Given the description of an element on the screen output the (x, y) to click on. 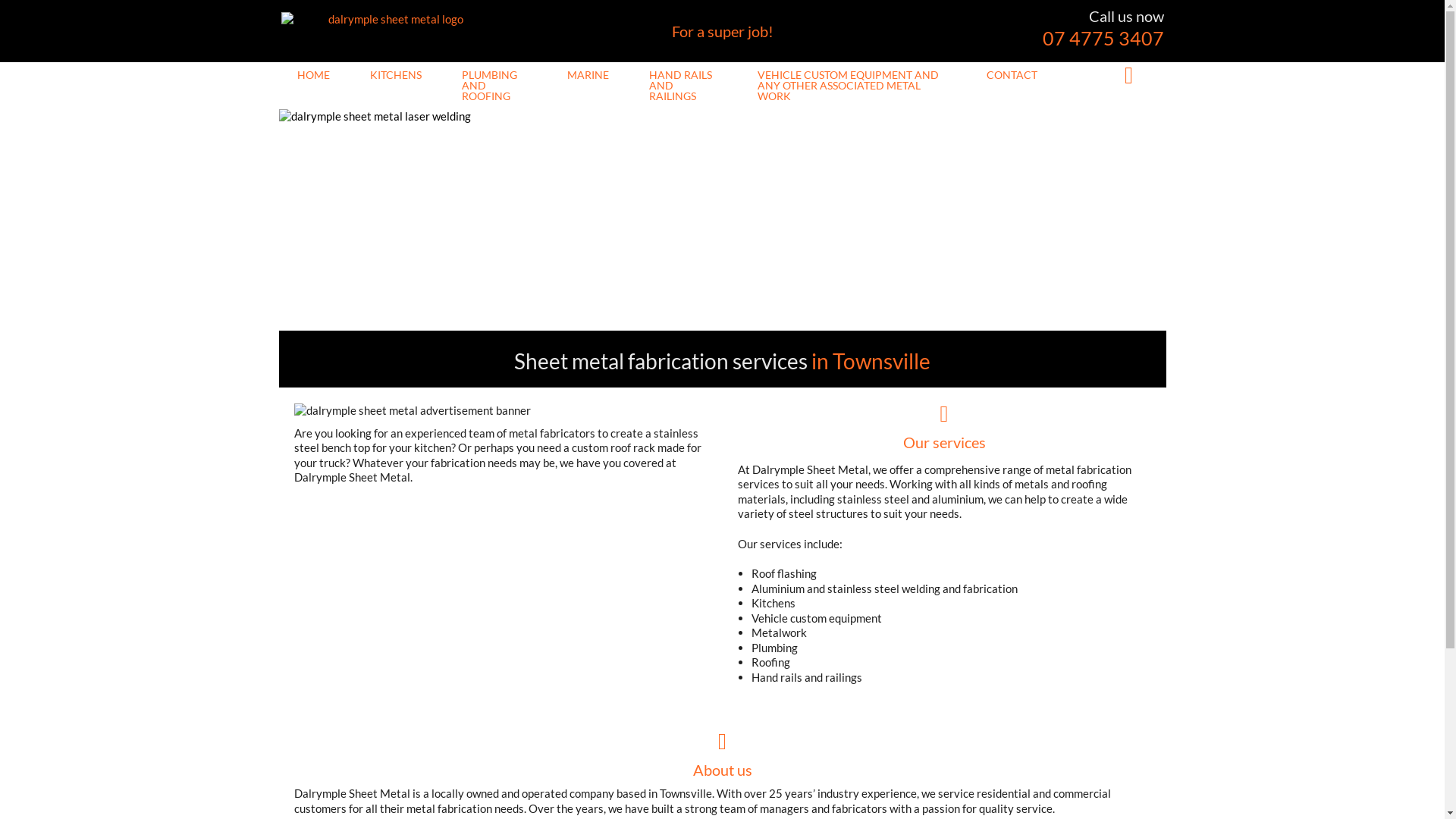
HAND RAILS AND RAILINGS Element type: text (683, 85)
KITCHENS Element type: text (395, 74)
HOME Element type: text (313, 74)
dalrymple sheet metal logo Element type: hover (389, 19)
07 4775 3407 Element type: text (1102, 37)
MARINE Element type: text (587, 74)
dalrymple sheet metal advertisement banner Element type: hover (496, 410)
dalrymple sheet metal laser welding Element type: hover (722, 220)
VEHICLE CUSTOM EQUIPMENT AND ANY OTHER ASSOCIATED METAL WORK Element type: text (851, 85)
CONTACT Element type: text (1011, 74)
PLUMBING AND ROOFING Element type: text (493, 85)
